Given the description of an element on the screen output the (x, y) to click on. 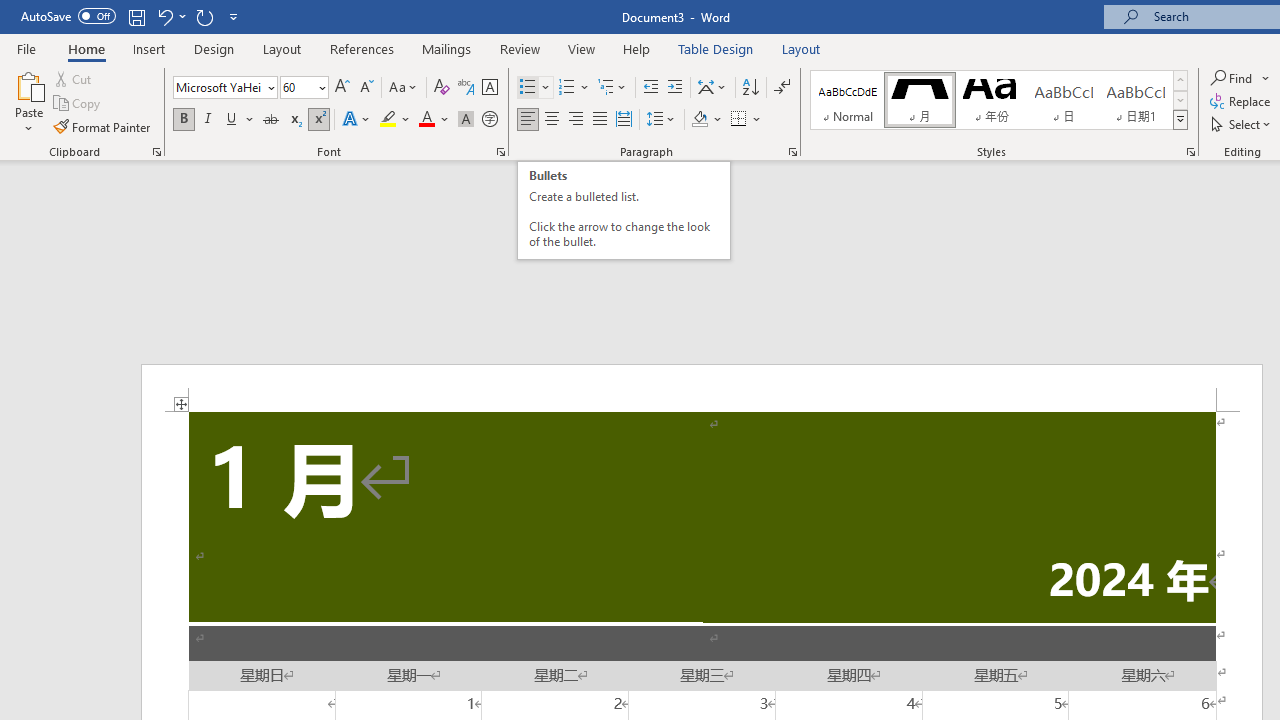
Row up (1179, 79)
Character Shading (465, 119)
Justify (599, 119)
Cut (73, 78)
Bullets (535, 87)
Mailings (447, 48)
Repeat Doc Close (204, 15)
Replace... (1242, 101)
Strikethrough (270, 119)
Bullets (527, 87)
Borders (739, 119)
Multilevel List (613, 87)
Class: NetUIImage (1181, 119)
Home (86, 48)
